Given the description of an element on the screen output the (x, y) to click on. 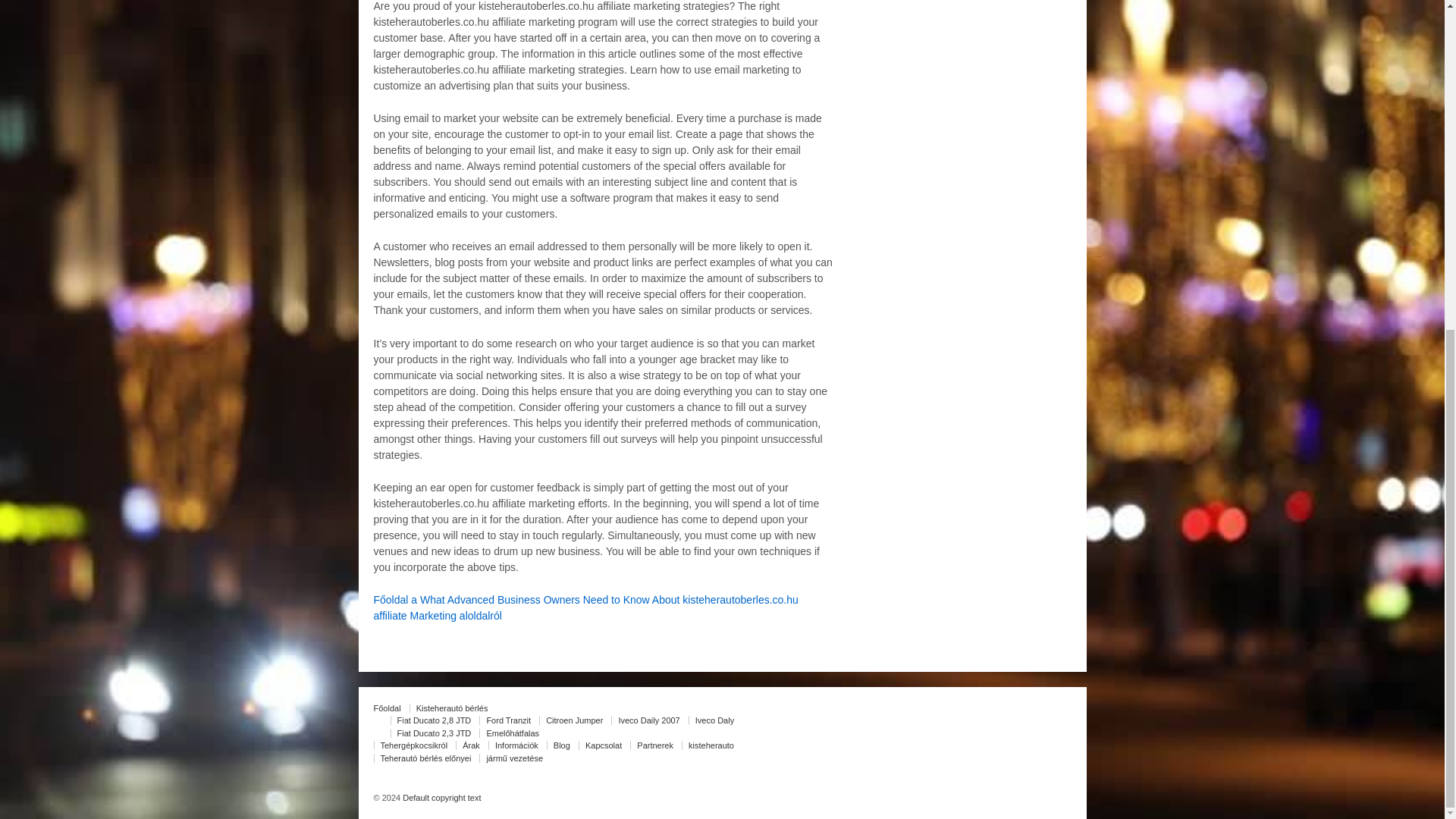
Mozsatrans (440, 797)
Citroen Jumper (573, 719)
Fiat Ducato 2,8 JTD (433, 719)
Iveco Daly (713, 719)
kisteherauto (710, 745)
Fiat Ducato 2,3 JTD (433, 732)
Blog (561, 745)
Kapcsolat (602, 745)
Partnerek (654, 745)
Ford Tranzit (508, 719)
Iveco Daily 2007 (648, 719)
